Given the description of an element on the screen output the (x, y) to click on. 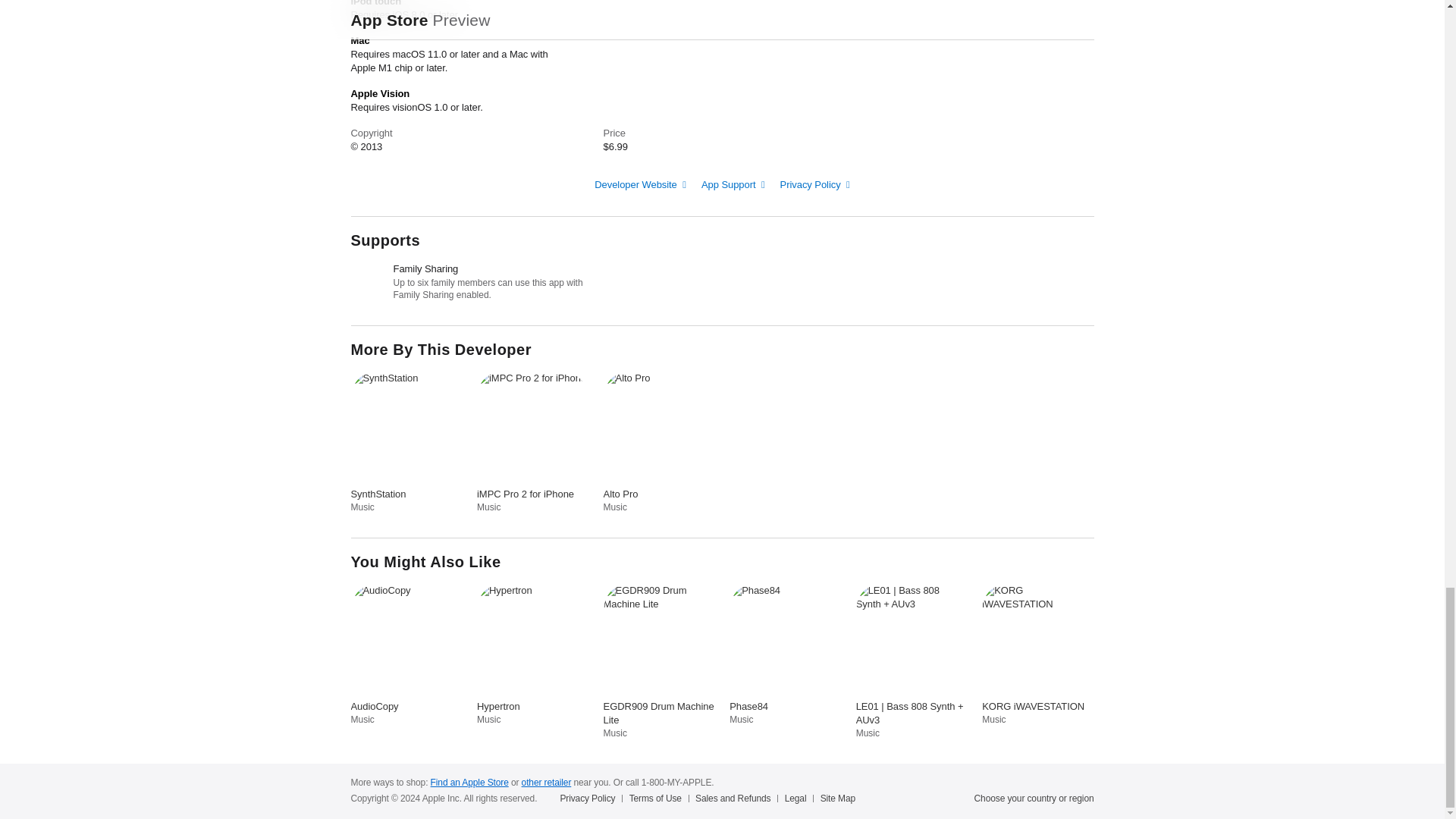
other retailer (546, 782)
Privacy Policy (815, 184)
Find an Apple Store (469, 782)
Choose your country or region (1034, 798)
Choose your country or region (1034, 798)
Developer Website (639, 184)
App Support (733, 184)
